Given the description of an element on the screen output the (x, y) to click on. 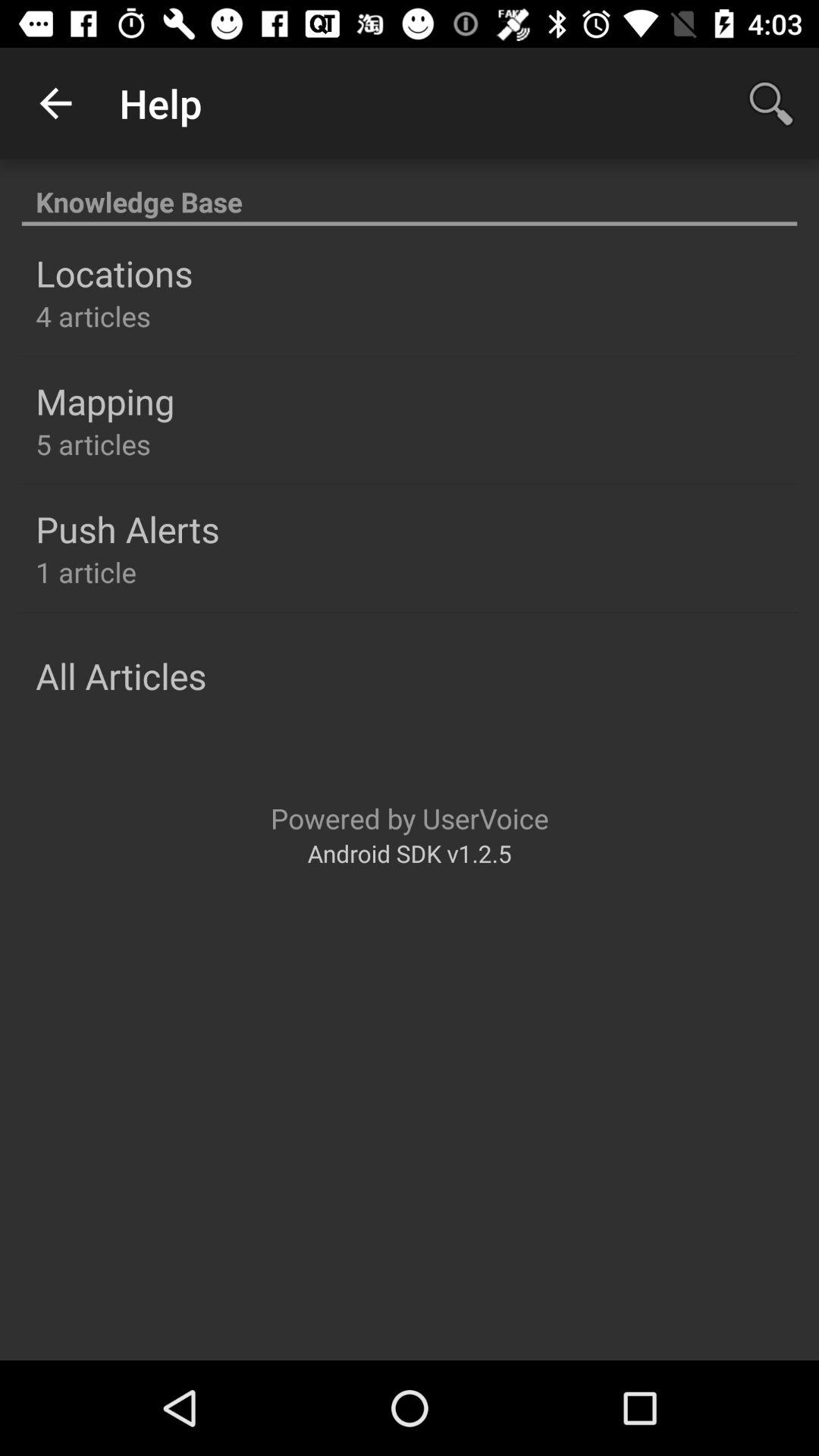
turn on the item below the powered by uservoice item (409, 853)
